Given the description of an element on the screen output the (x, y) to click on. 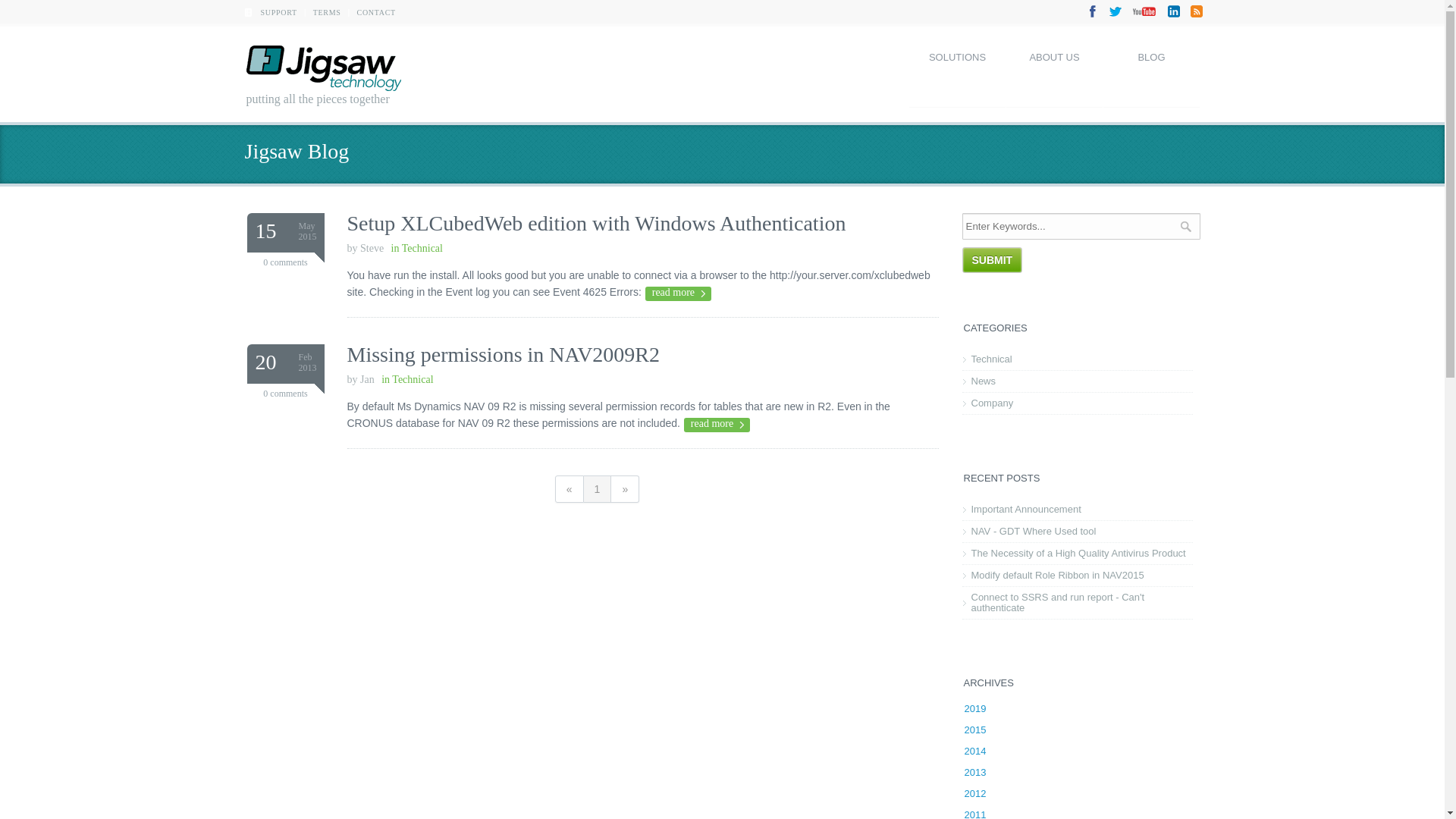
TERMS Element type: text (327, 12)
Missing permissions in NAV2009R2 Element type: text (503, 354)
read more Element type: text (716, 424)
Setup XLCubedWeb edition with Windows Authentication Element type: text (596, 223)
2012 Element type: text (975, 793)
Technical Element type: text (1076, 359)
Important Announcement Element type: text (1076, 509)
The Necessity of a High Quality Antivirus Product Element type: text (1076, 553)
1 Element type: text (597, 488)
News Element type: text (1076, 381)
CONTACT Element type: text (376, 12)
Connect to SSRS and run report - Can't authenticate Element type: text (1076, 602)
Company Element type: text (1076, 403)
SOLUTIONS Element type: text (956, 70)
ABOUT US Element type: text (1053, 70)
2015 Element type: text (975, 729)
Modify default Role Ribbon in NAV2015 Element type: text (1076, 575)
2019 Element type: text (975, 708)
SUPPORT Element type: text (278, 12)
read more Element type: text (678, 293)
NAV - GDT Where Used tool Element type: text (1076, 531)
2014 Element type: text (975, 750)
Submit Element type: text (991, 260)
BLOG Element type: text (1150, 70)
2013 Element type: text (975, 772)
